Given the description of an element on the screen output the (x, y) to click on. 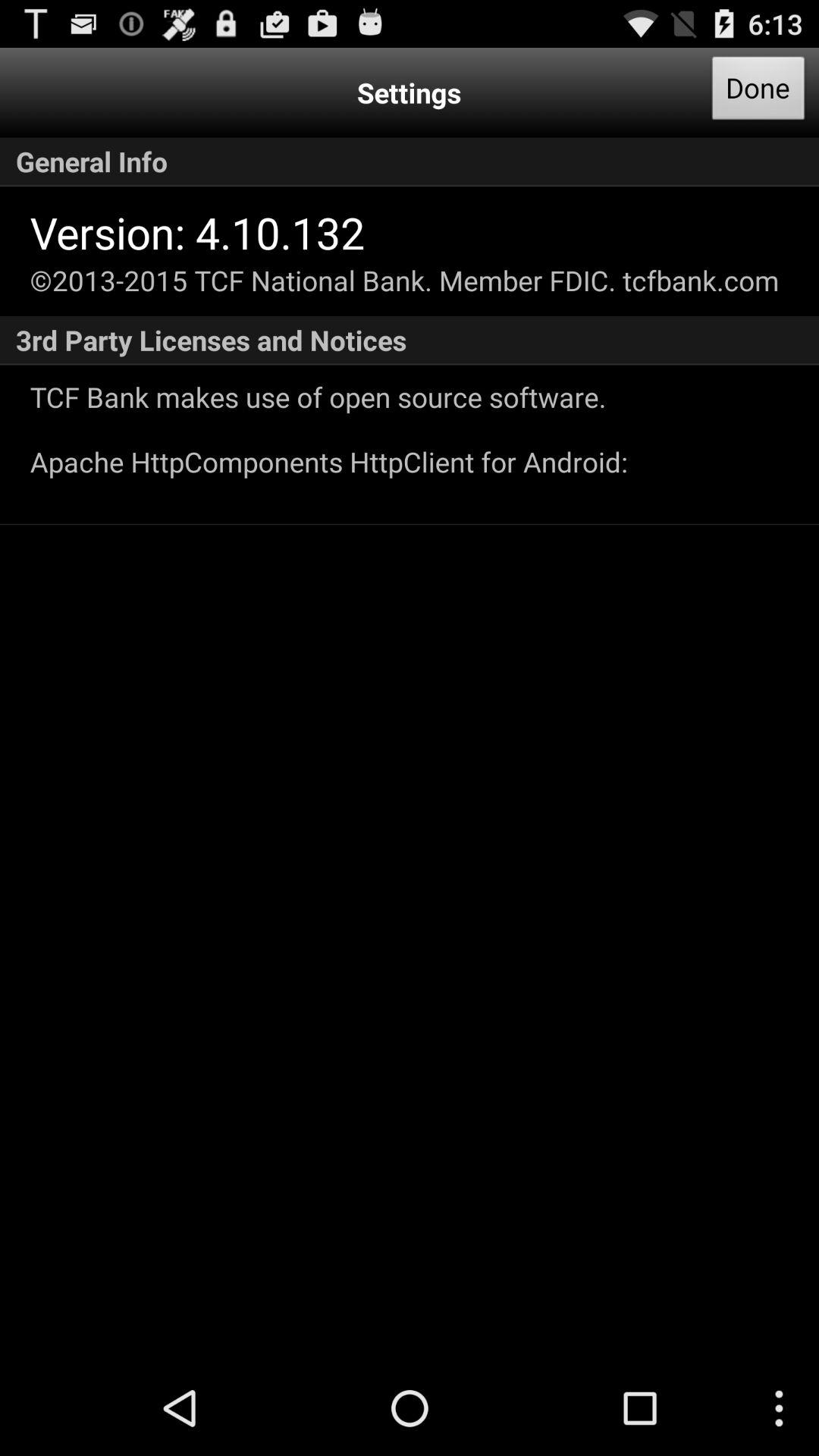
open button below the done icon (409, 161)
